Given the description of an element on the screen output the (x, y) to click on. 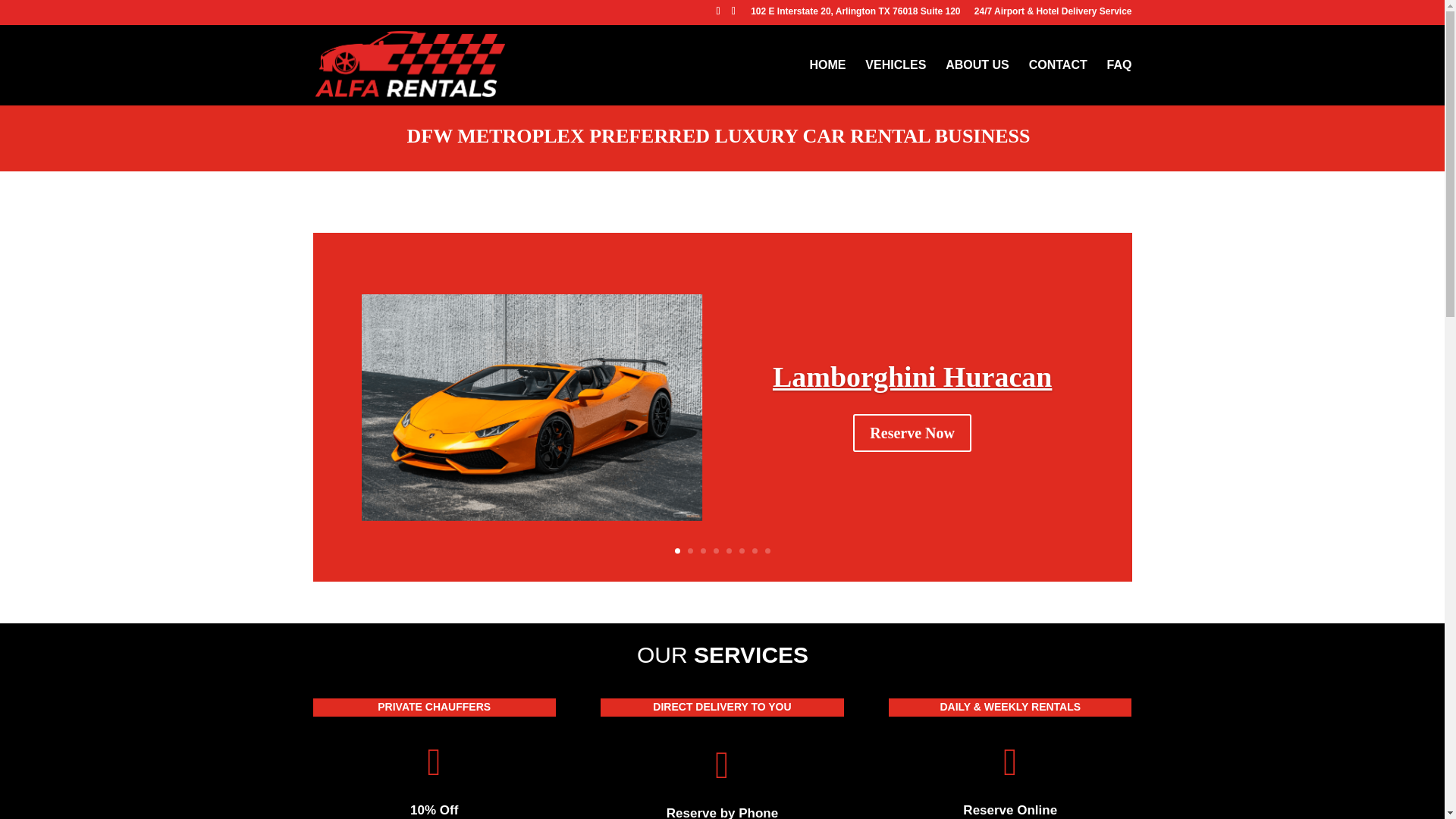
5 (729, 550)
102 E Interstate 20, Arlington TX 76018 Suite 120 (855, 14)
VEHICLES (895, 81)
ABOUT US (976, 81)
2 (690, 550)
HOME (827, 81)
CONTACT (1058, 81)
3 (703, 550)
FAQ (1119, 81)
